Given the description of an element on the screen output the (x, y) to click on. 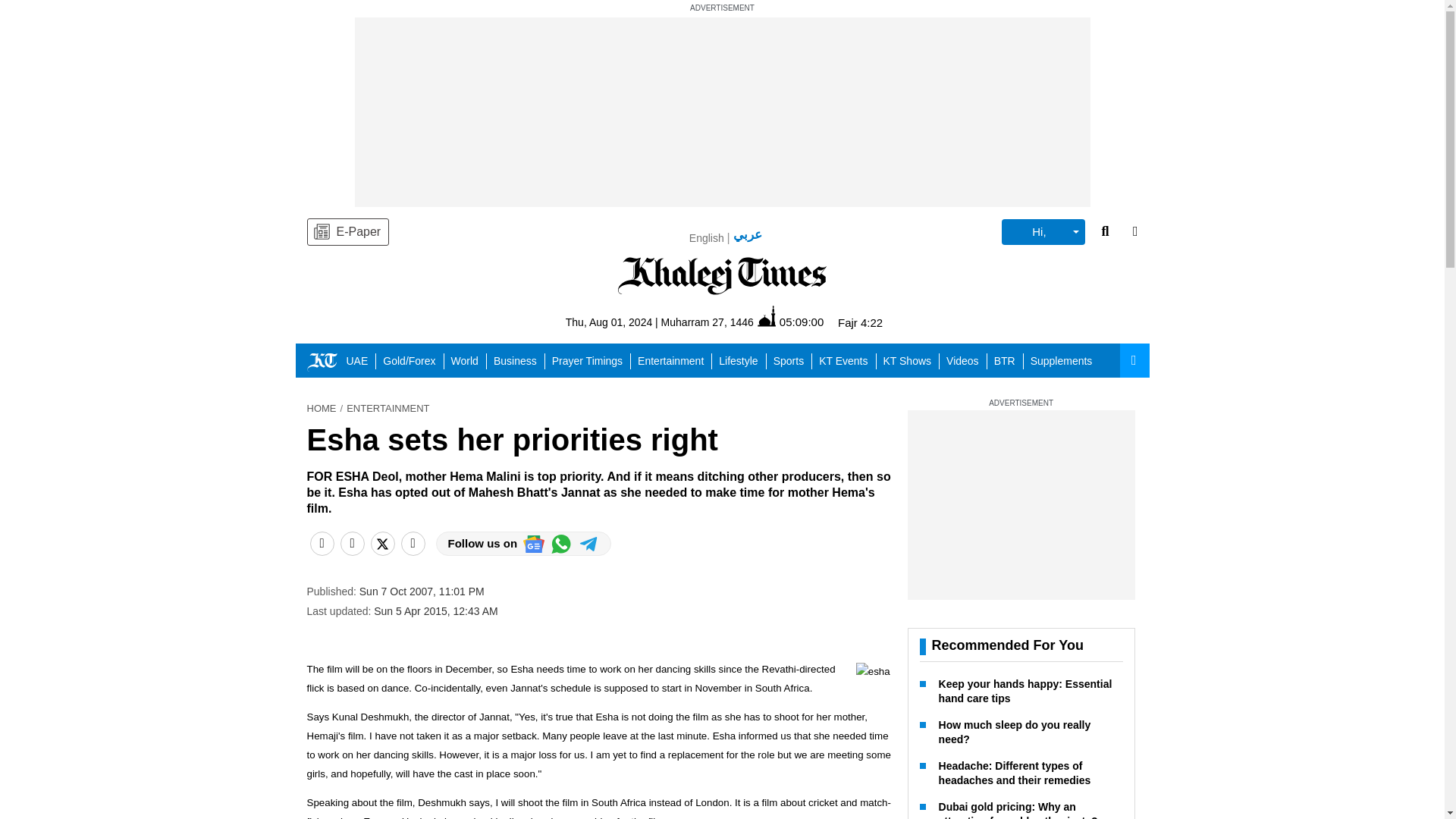
02:54:58 (763, 324)
E-Paper (346, 231)
Sign In (1052, 233)
Maghrib 19:05 (846, 326)
